Given the description of an element on the screen output the (x, y) to click on. 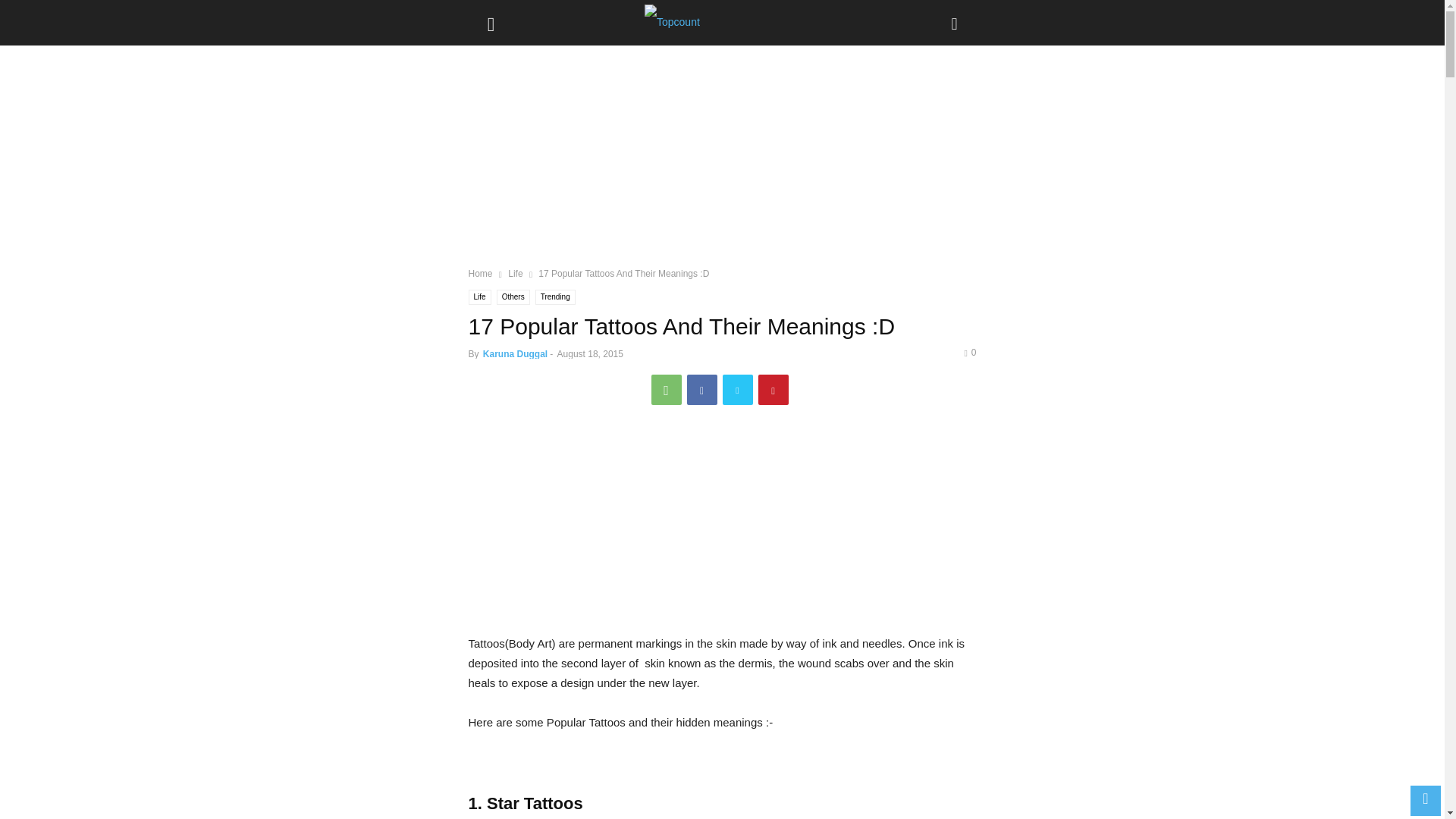
Trending (555, 296)
Life (480, 296)
View all posts in Life (515, 273)
WhatsApp (665, 389)
Home (480, 273)
Pinterest (773, 389)
Facebook (702, 389)
Life (515, 273)
Topcount (722, 22)
0 (969, 352)
Twitter (737, 389)
Karuna Duggal (515, 353)
Others (512, 296)
